Given the description of an element on the screen output the (x, y) to click on. 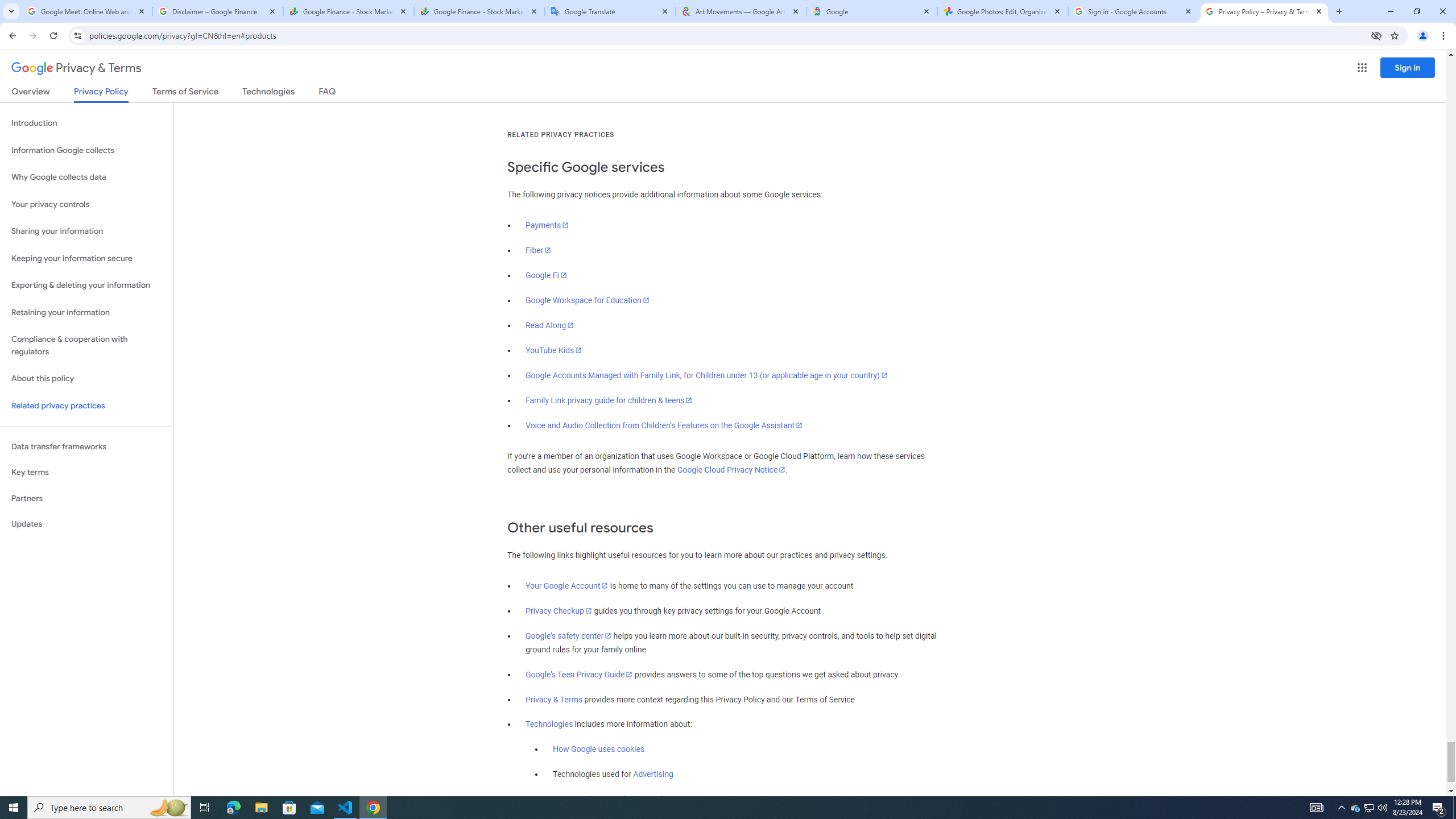
Partners (86, 497)
Google Translate (610, 11)
Family Link privacy guide for children & teens (609, 400)
YouTube Kids (553, 350)
Exporting & deleting your information (86, 284)
Payments (547, 225)
Advertising (652, 774)
Data transfer frameworks (86, 446)
